Given the description of an element on the screen output the (x, y) to click on. 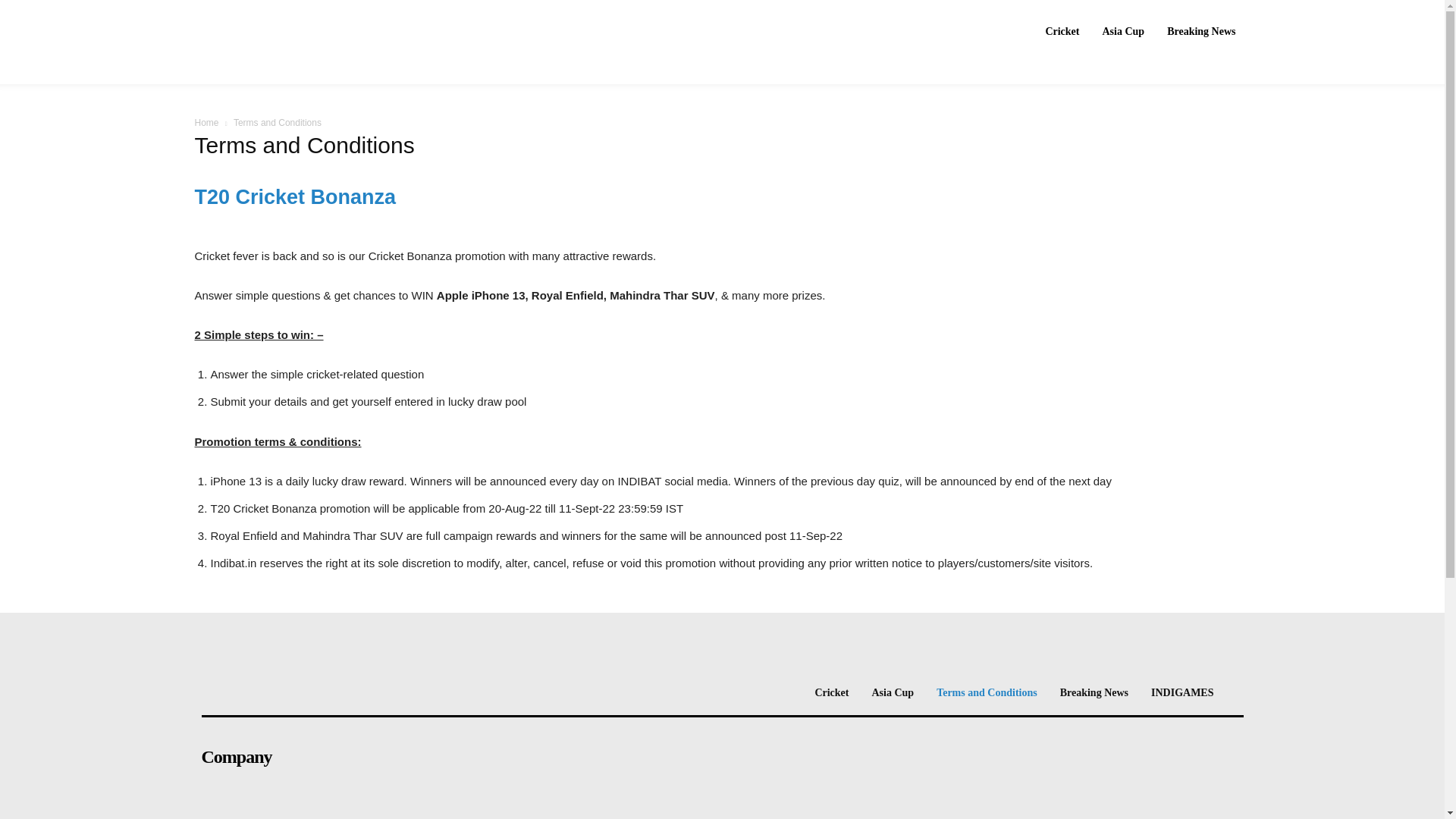
Cricket (830, 692)
Breaking News (1200, 31)
Asia Cup (893, 692)
Home (205, 122)
Cricket (1061, 31)
Asia Cup (1123, 31)
